Given the description of an element on the screen output the (x, y) to click on. 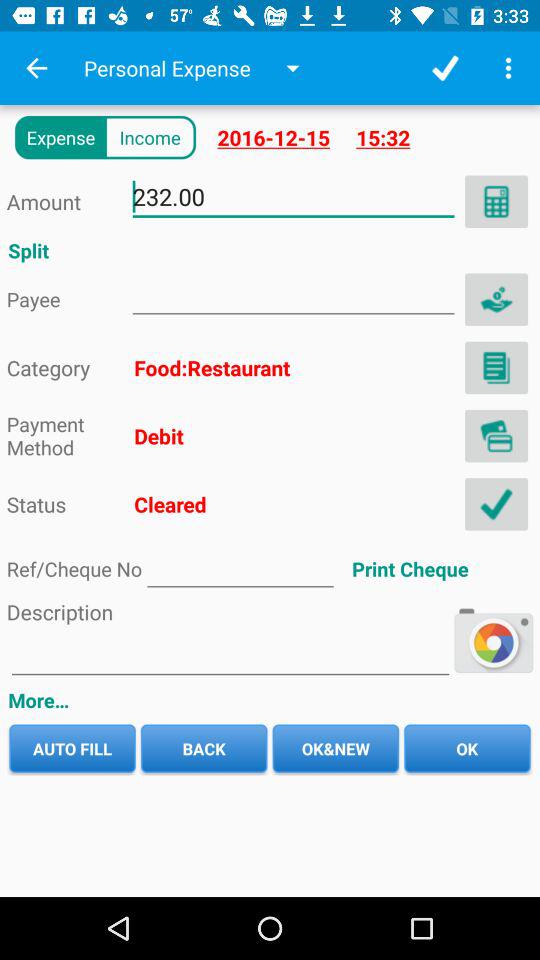
calculator button (496, 201)
